Given the description of an element on the screen output the (x, y) to click on. 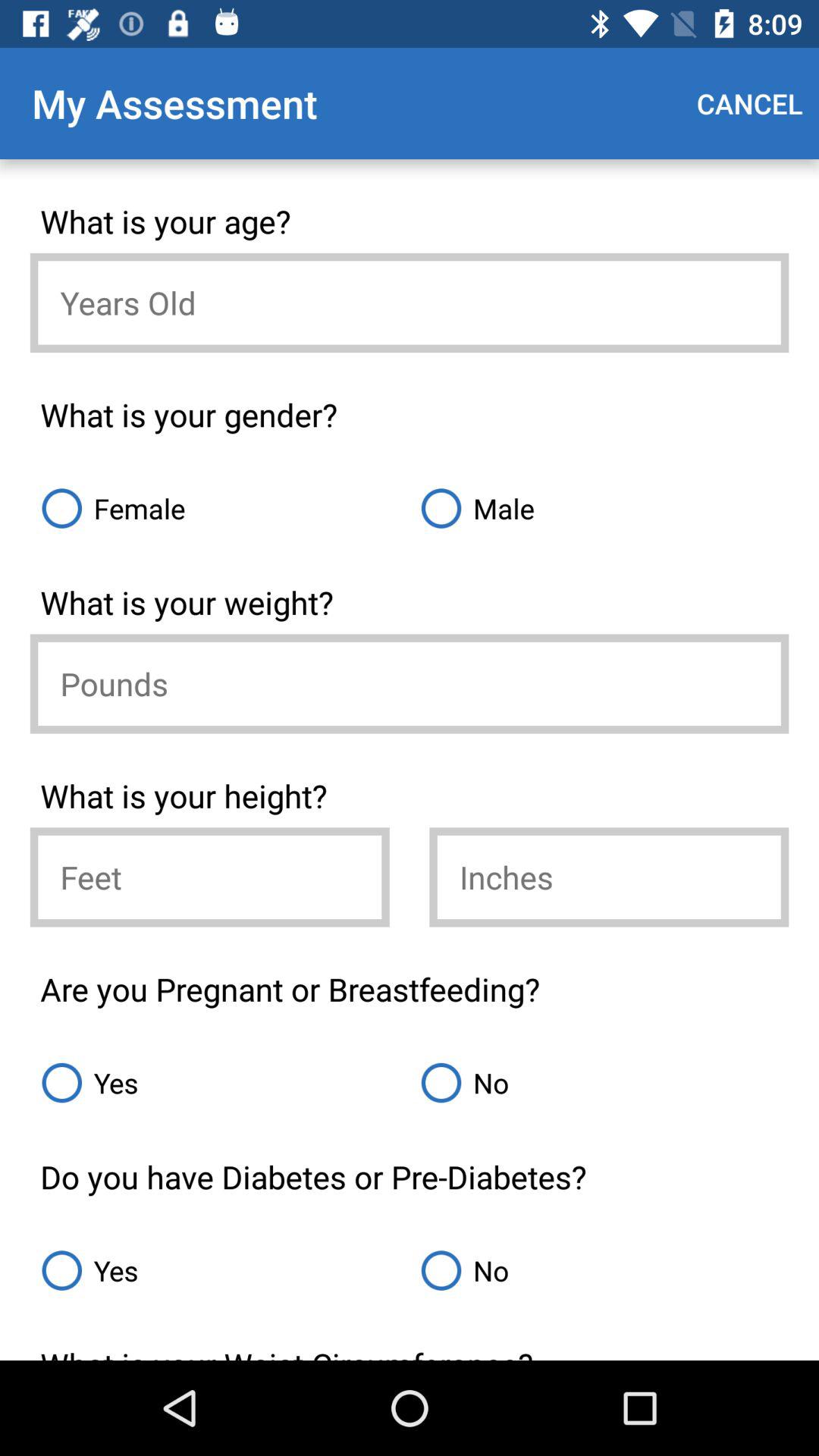
pound field (409, 683)
